Given the description of an element on the screen output the (x, y) to click on. 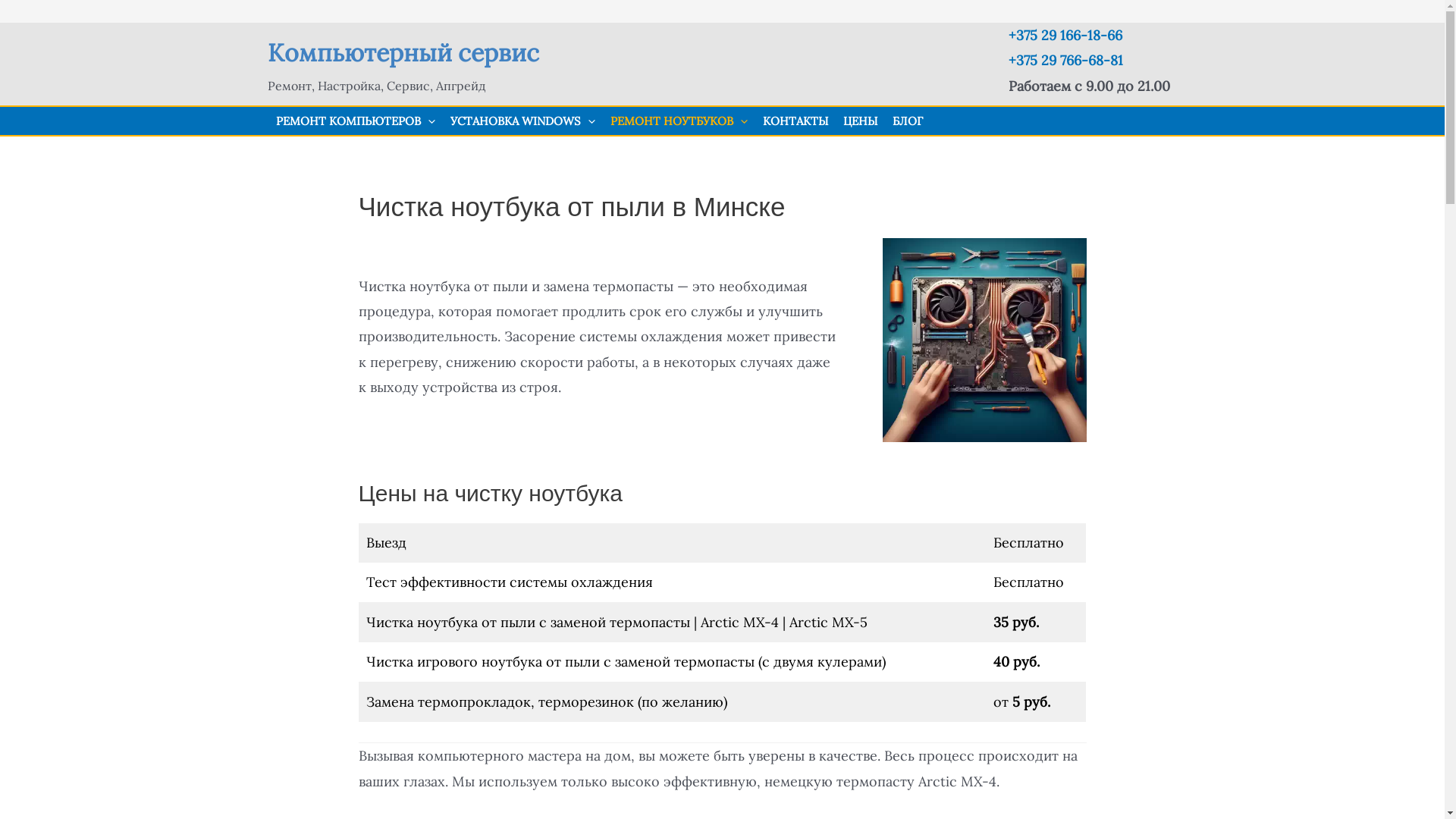
+375 29 166-18-66 Element type: text (1065, 34)
+375 29 766-68-81 Element type: text (1065, 60)
